Given the description of an element on the screen output the (x, y) to click on. 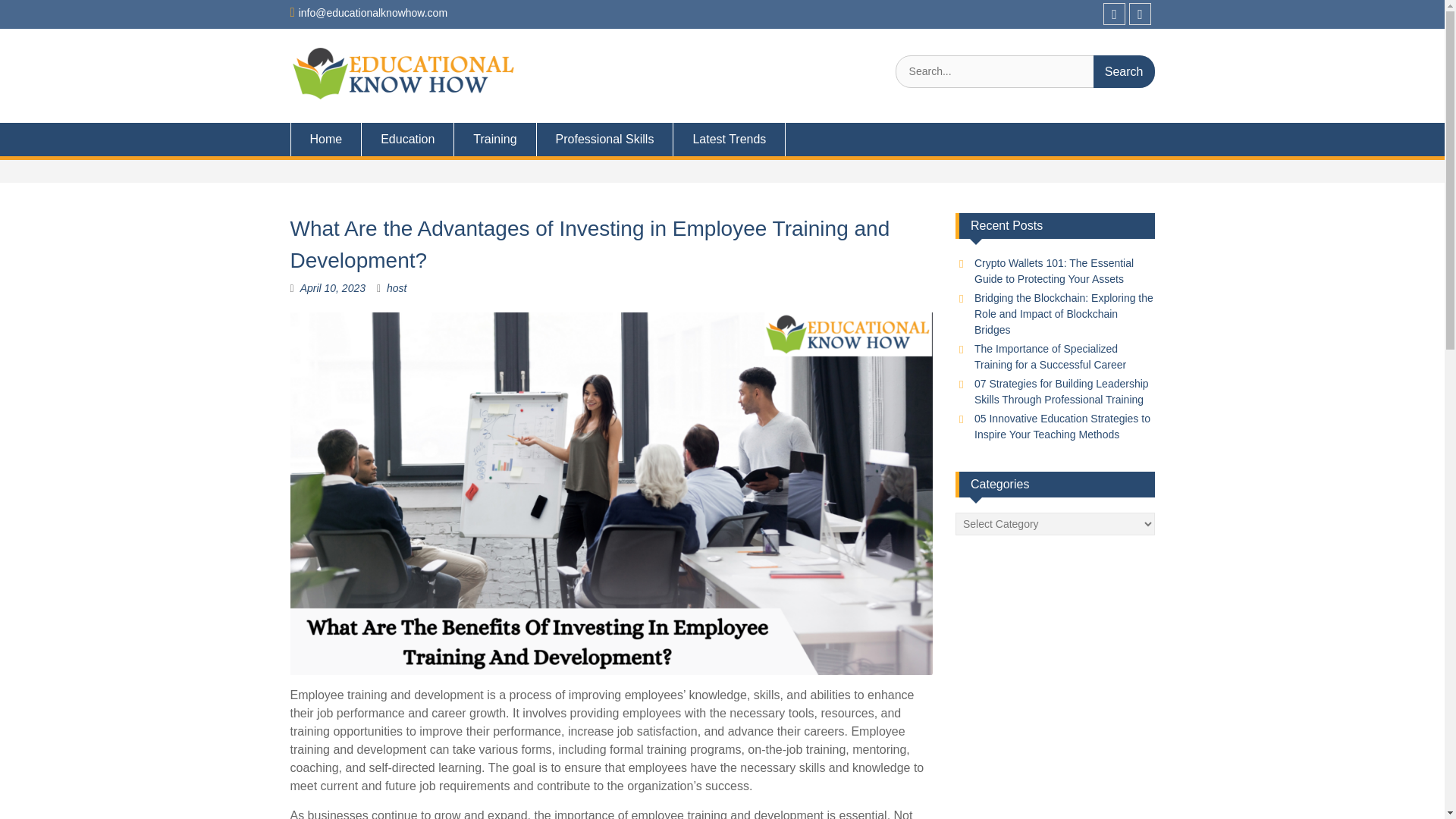
Search (1123, 71)
Twitter (1140, 14)
April 10, 2023 (332, 287)
Training (494, 139)
Search (1123, 71)
Professional Skills (605, 139)
facebook (1114, 14)
Latest Trends (729, 139)
host (396, 287)
Search (1123, 71)
